Given the description of an element on the screen output the (x, y) to click on. 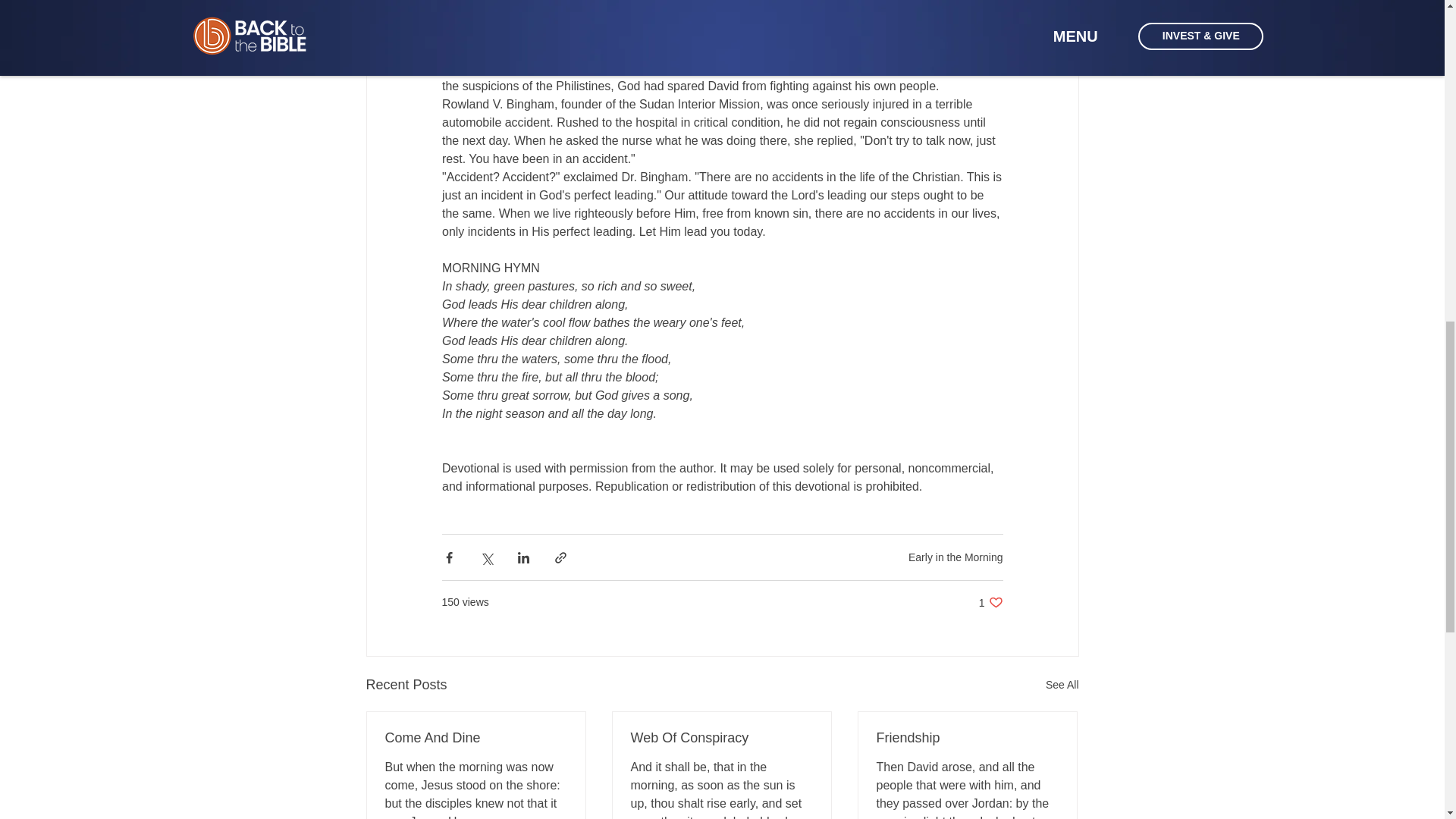
Web Of Conspiracy (721, 738)
Friendship (967, 738)
Come And Dine (990, 602)
Early in the Morning (476, 738)
See All (955, 556)
1 Samuel 29:10 (1061, 685)
